Given the description of an element on the screen output the (x, y) to click on. 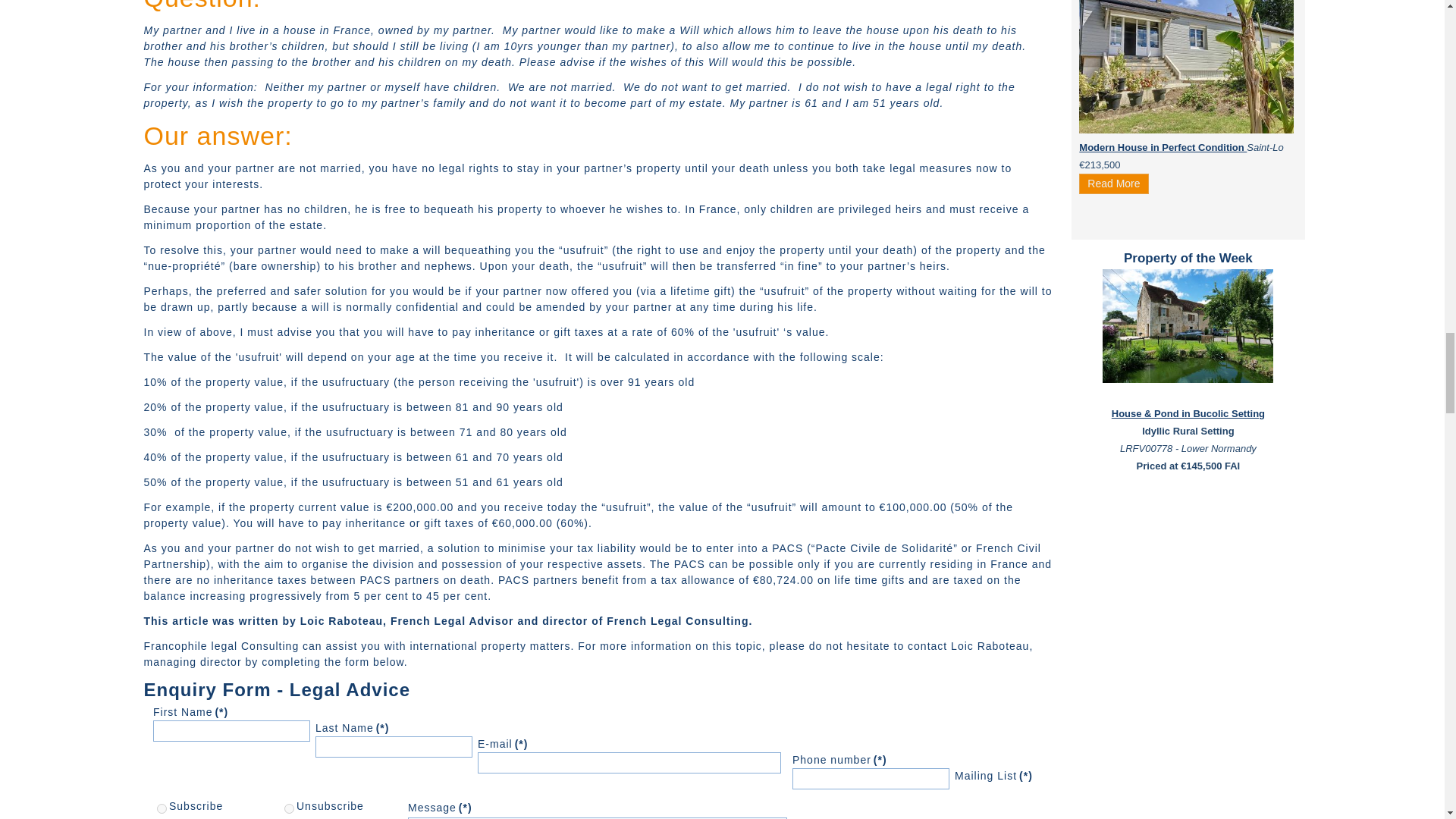
Unsubscribe (288, 808)
Subscribe (162, 808)
